Given the description of an element on the screen output the (x, y) to click on. 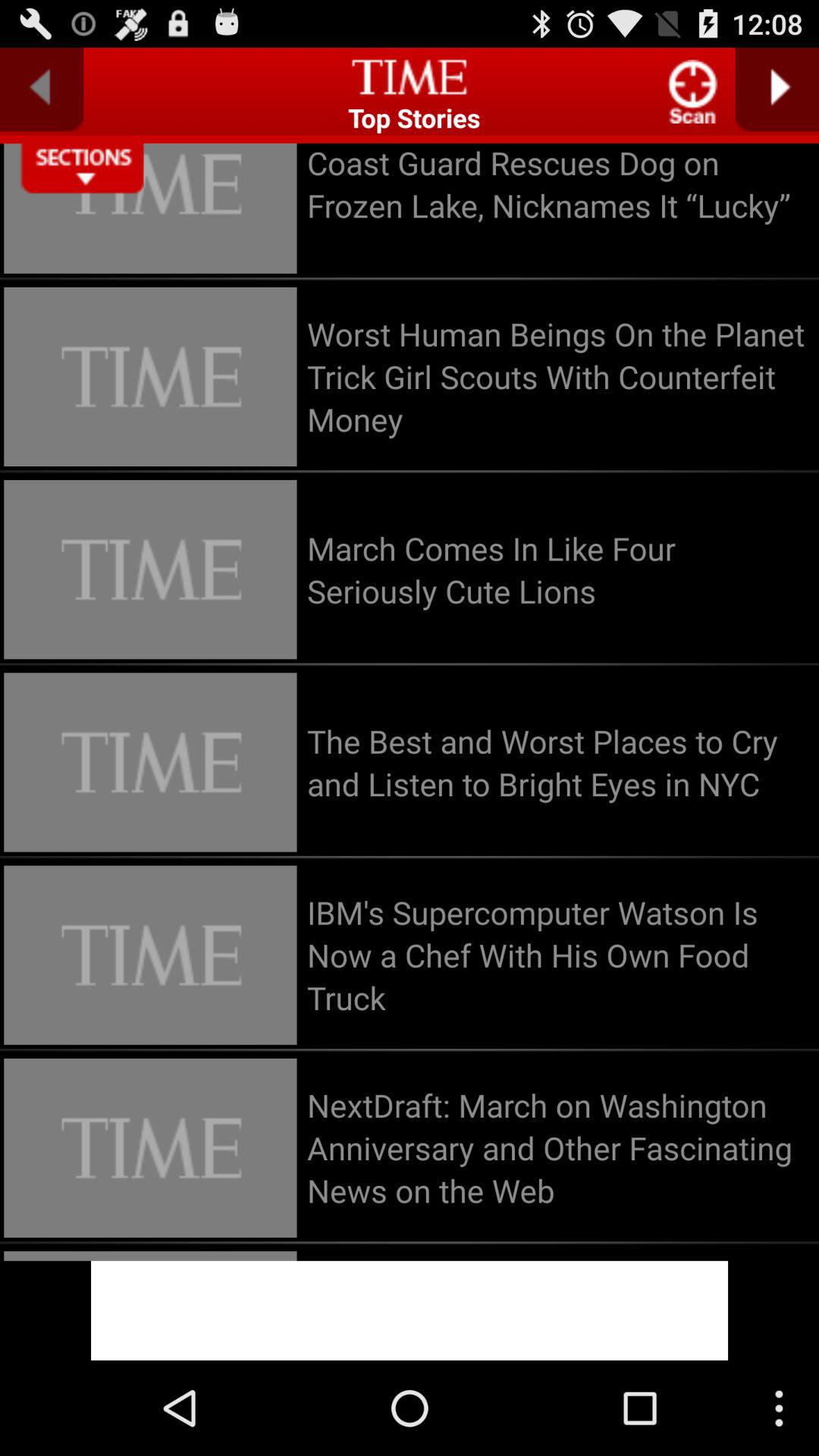
go back (41, 89)
